Given the description of an element on the screen output the (x, y) to click on. 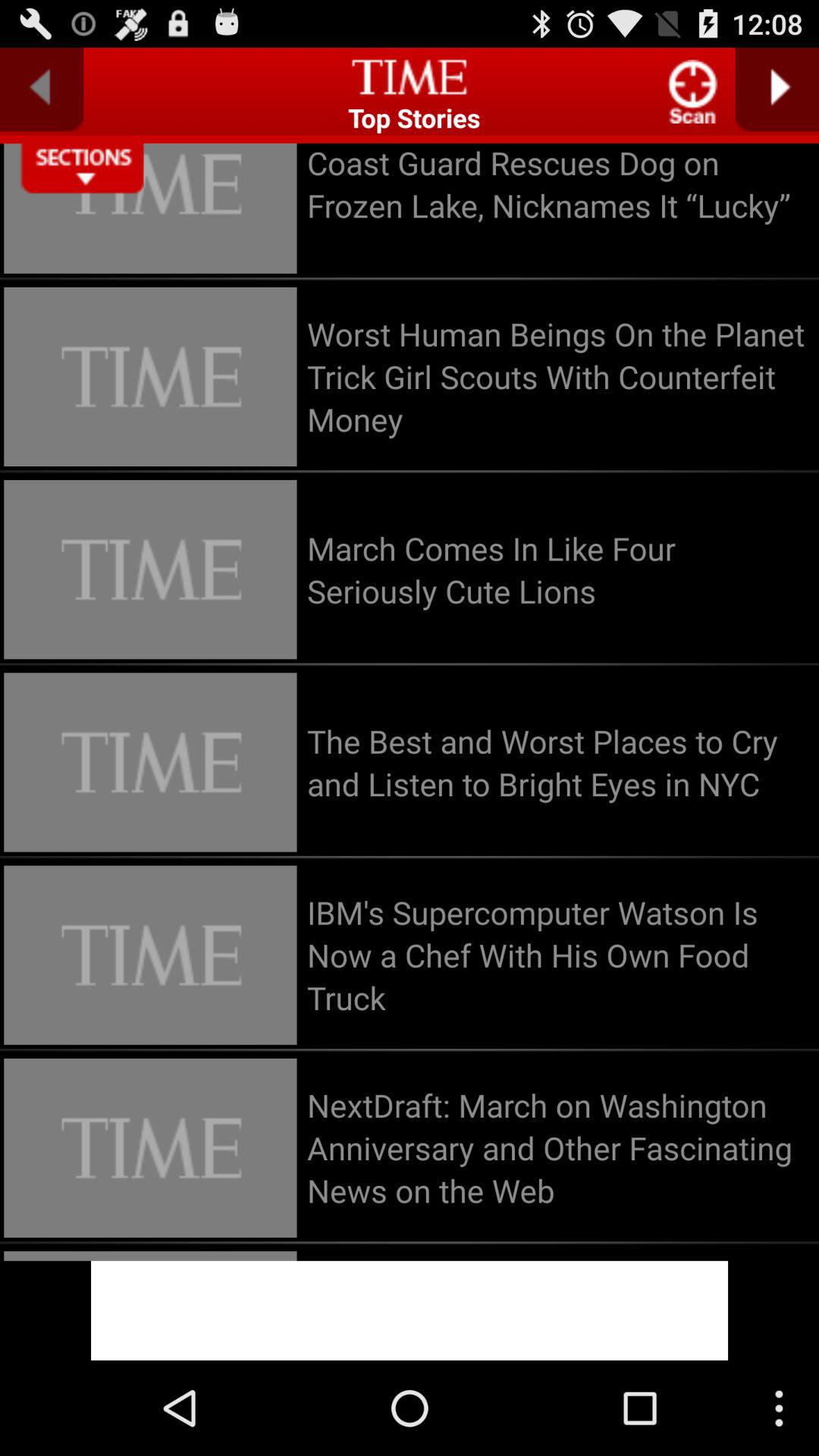
go back (41, 89)
